Given the description of an element on the screen output the (x, y) to click on. 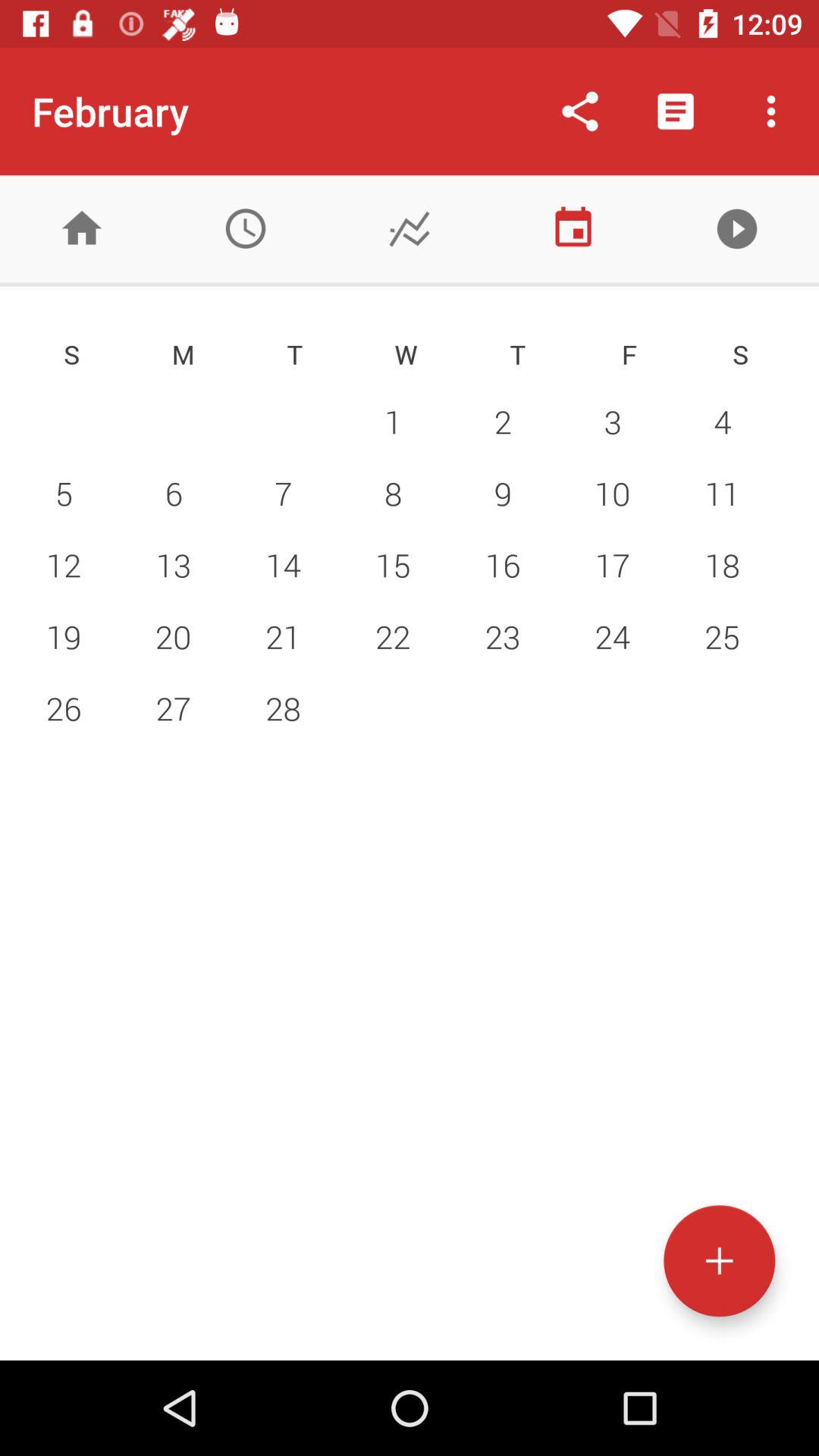
calender (573, 228)
